Given the description of an element on the screen output the (x, y) to click on. 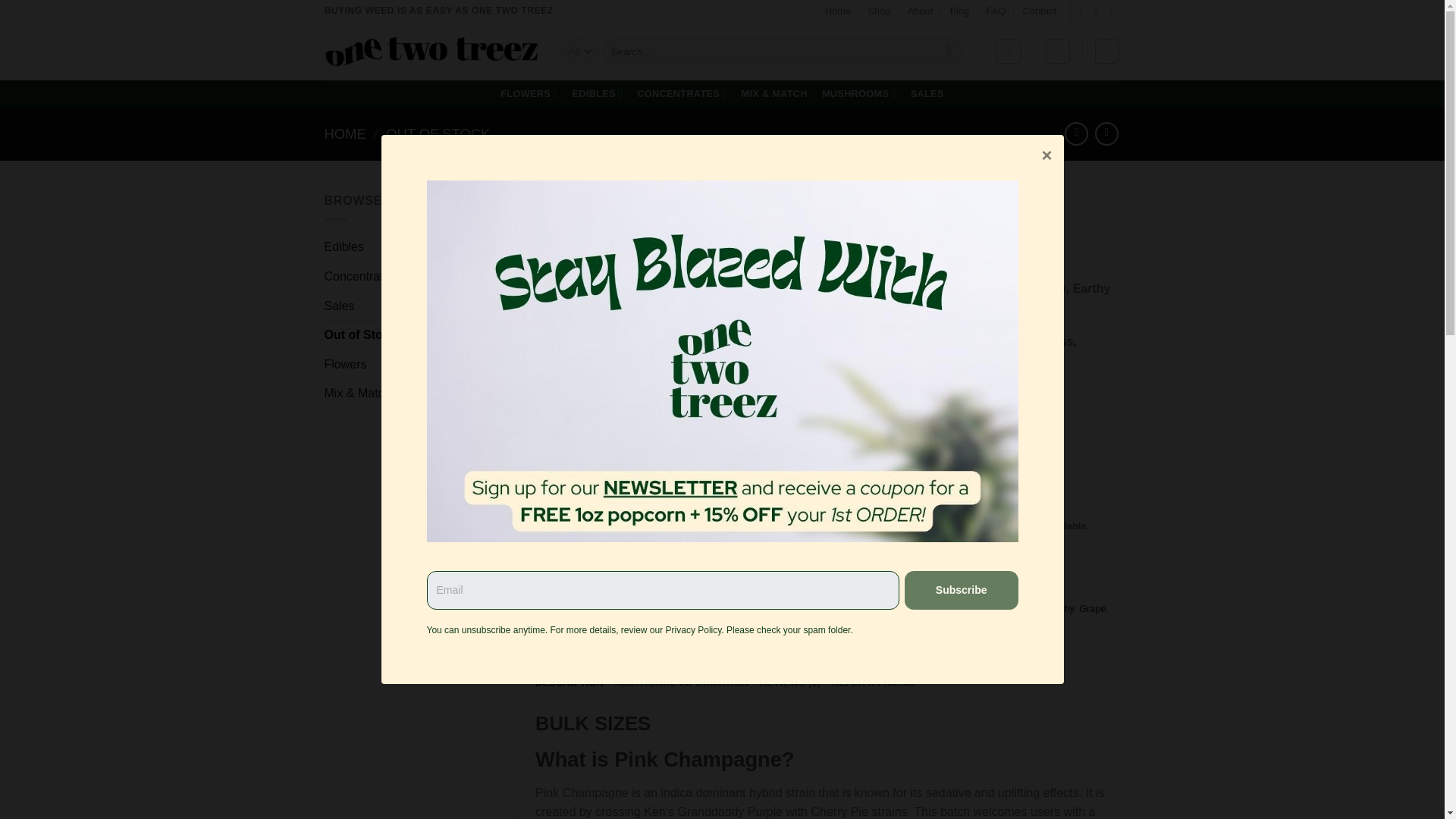
Search (948, 51)
Contact (1040, 11)
EDIBLES (597, 93)
No (748, 550)
FAQ (996, 11)
One Two Treez - Buying Cannabis Simplified (430, 51)
Shop (879, 11)
Cart (1106, 51)
Home (837, 11)
About (920, 11)
Zoom (558, 543)
Blog (959, 11)
FLOWERS (528, 93)
Yes (697, 550)
